Given the description of an element on the screen output the (x, y) to click on. 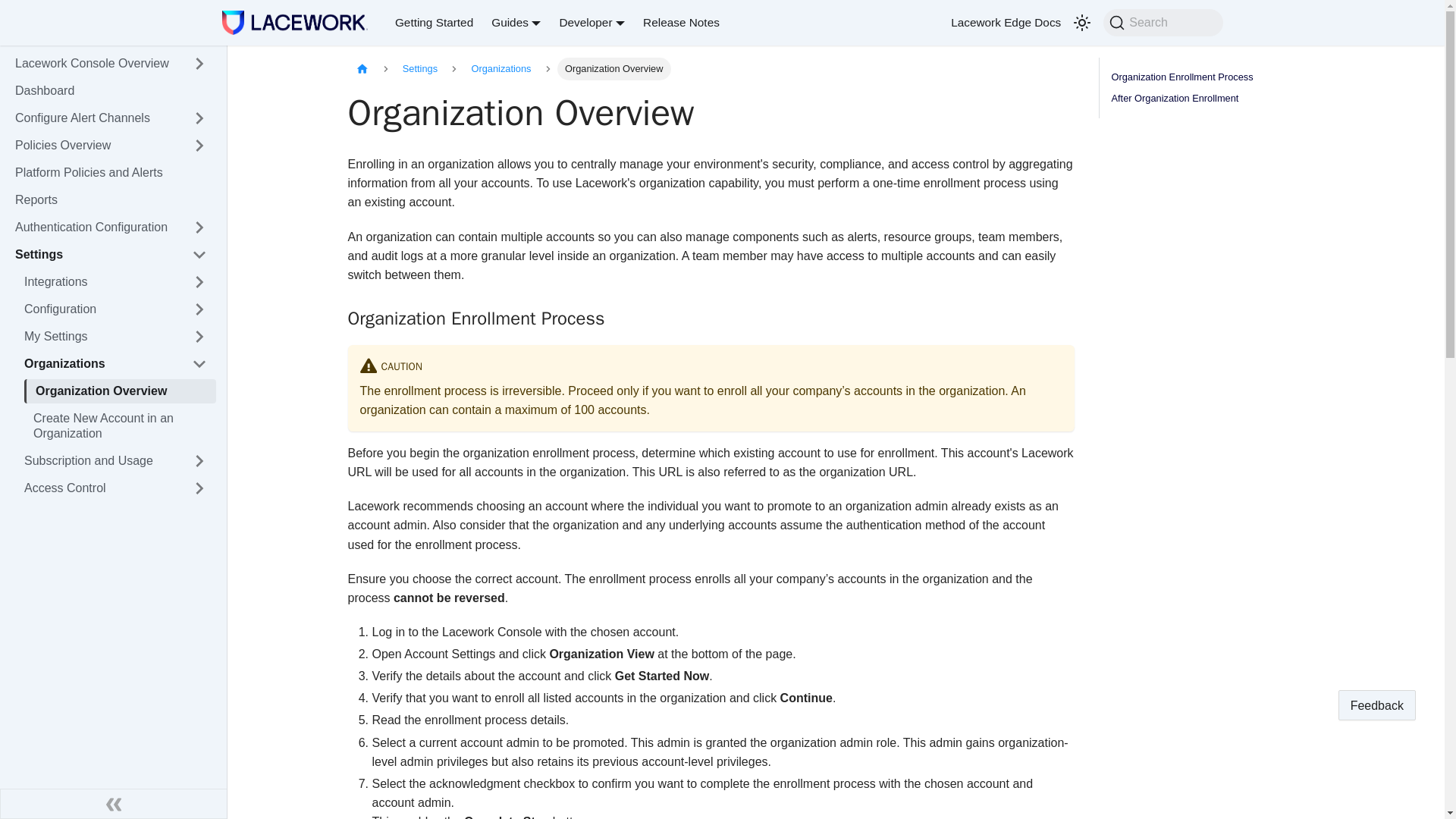
Lacework Console Overview (94, 63)
Platform Policies and Alerts (110, 172)
Guides (516, 21)
Configure Alert Channels (94, 118)
Policies Overview (94, 145)
Release Notes (681, 22)
Settings (94, 254)
Authentication Configuration (94, 227)
Reports (110, 200)
